Given the description of an element on the screen output the (x, y) to click on. 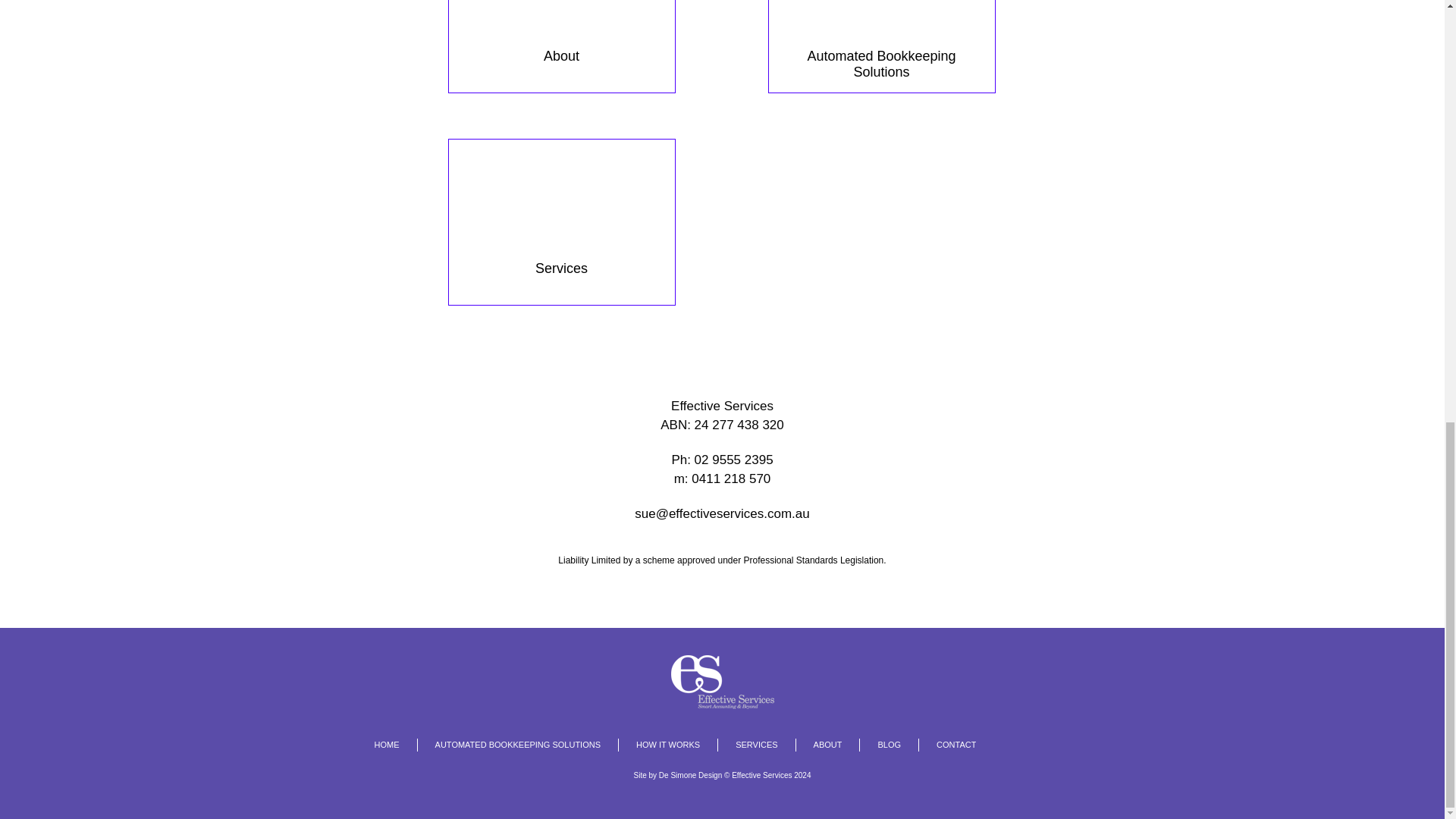
Automated Bookkeeping Solutions (507, 744)
CONTACT (880, 46)
Services (946, 744)
HOME (560, 221)
ABOUT (386, 744)
About (818, 744)
BLOG (560, 46)
TWITTER (880, 744)
SERVICES (1014, 744)
LINKEDIN (747, 744)
Site by De Simone Design (1057, 744)
HOW IT WORKS (677, 775)
